Given the description of an element on the screen output the (x, y) to click on. 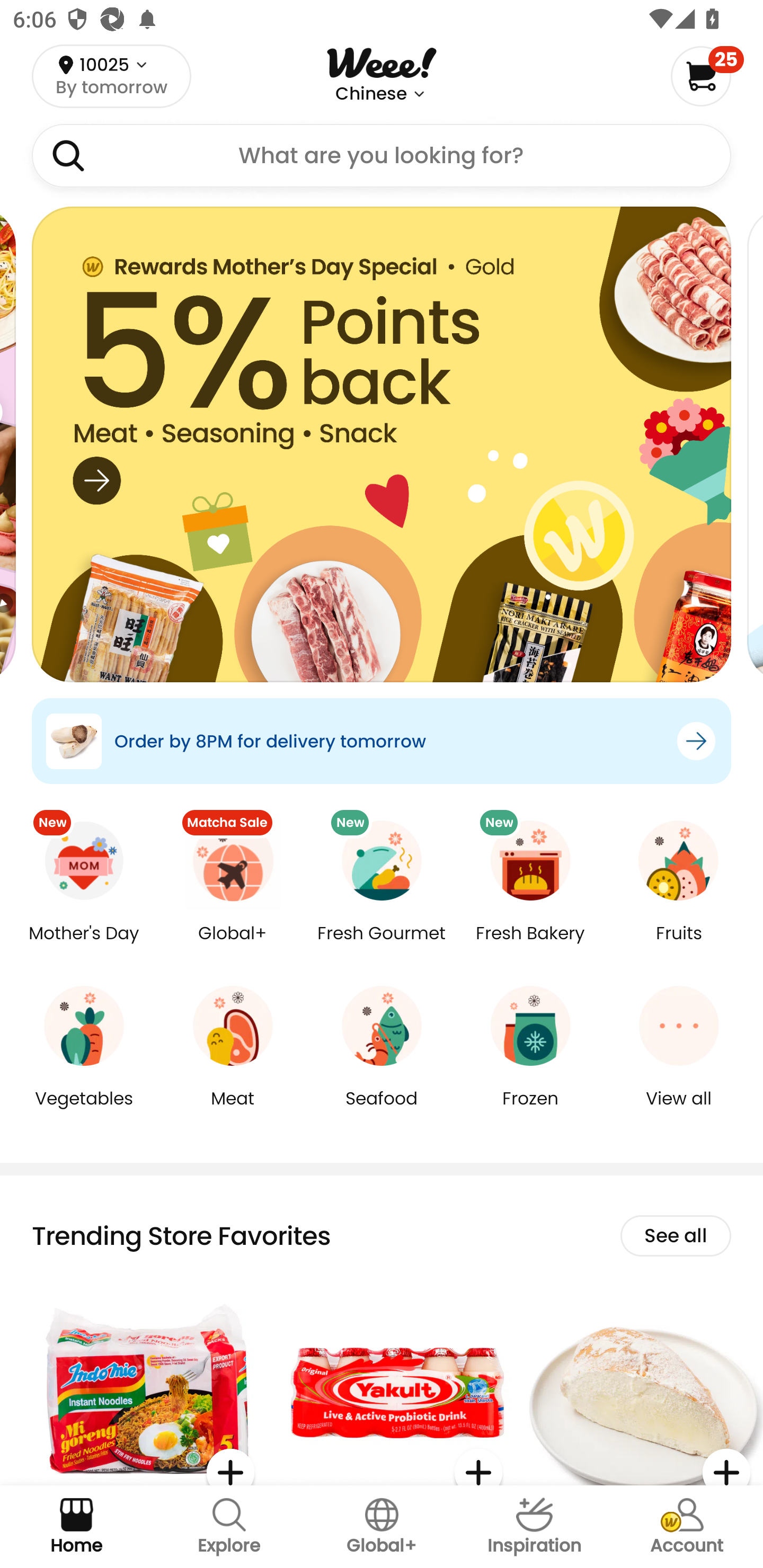
10025 By tomorrow (111, 75)
25 (706, 75)
Chinese (370, 93)
What are you looking for? (381, 155)
Order by 8PM for delivery tomorrow (381, 740)
Mother's Day (83, 946)
Global+ (232, 946)
Fresh Gourmet (381, 946)
Fresh Bakery (530, 946)
Fruits (678, 946)
